Given the description of an element on the screen output the (x, y) to click on. 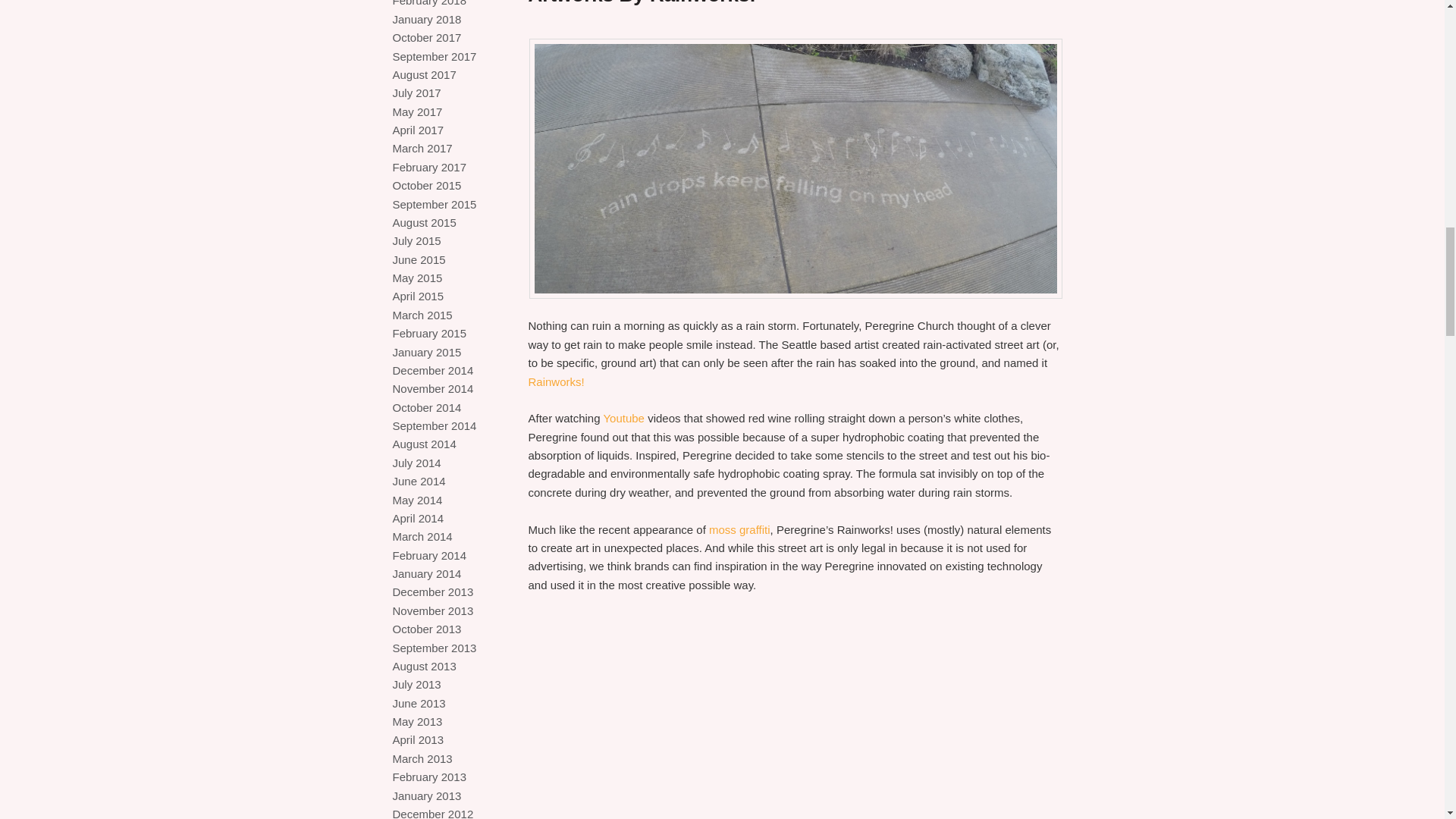
moss graffiti (739, 529)
Rainworks! (555, 380)
Youtube (623, 418)
Artworks By Rainworks! (641, 2)
Permalink to Artworks By Rainworks! (641, 2)
